Given the description of an element on the screen output the (x, y) to click on. 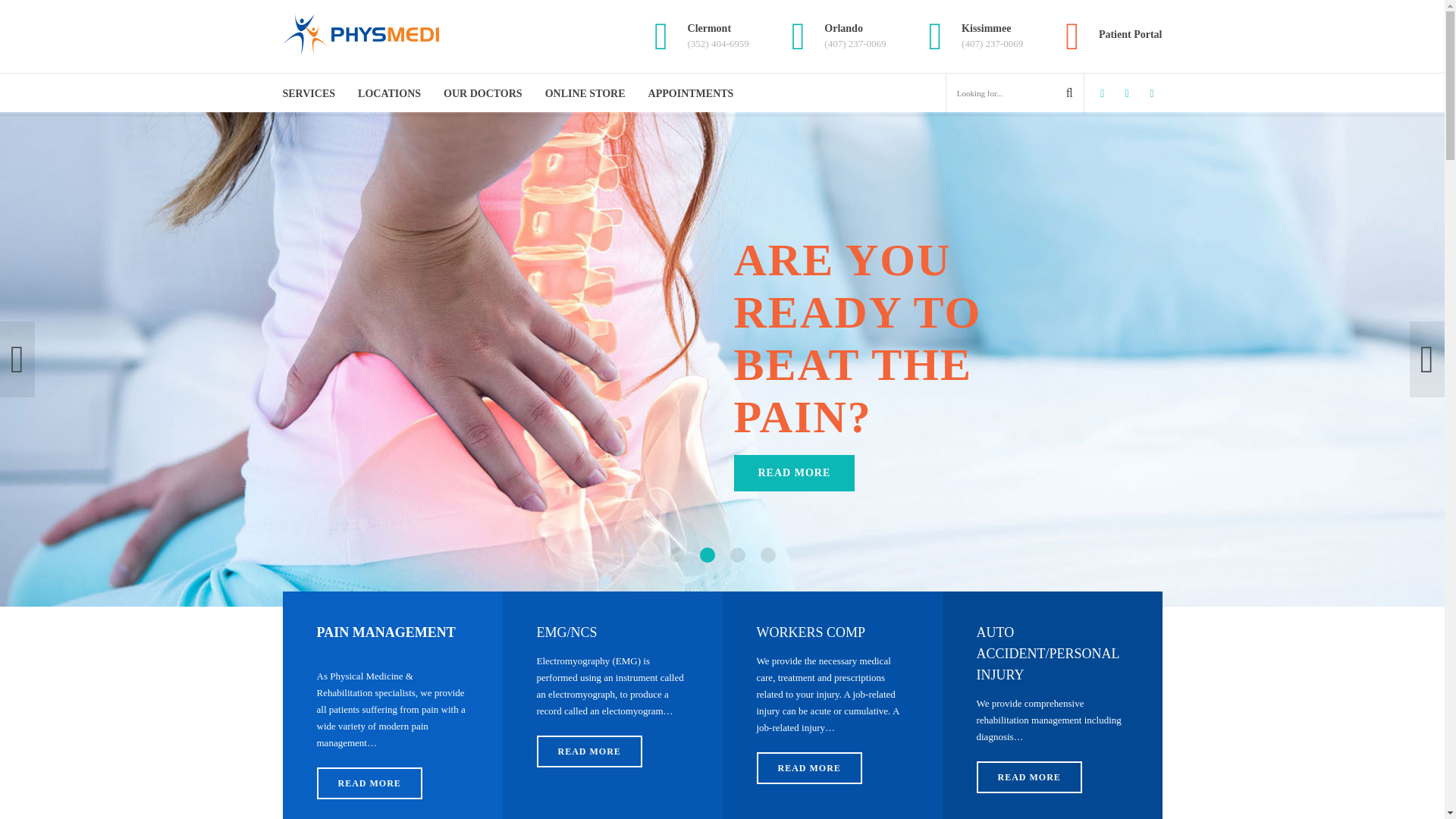
Patient Portal (1105, 35)
OUR DOCTORS (483, 93)
READ MORE (369, 783)
APPOINTMENTS (690, 93)
4 (767, 554)
READ MORE (809, 767)
LOCATIONS (389, 93)
3 (736, 554)
ONLINE STORE (585, 93)
READ MORE (589, 751)
READ MORE (1028, 777)
2 (706, 554)
READ MORE (794, 473)
1 (676, 554)
